Given the description of an element on the screen output the (x, y) to click on. 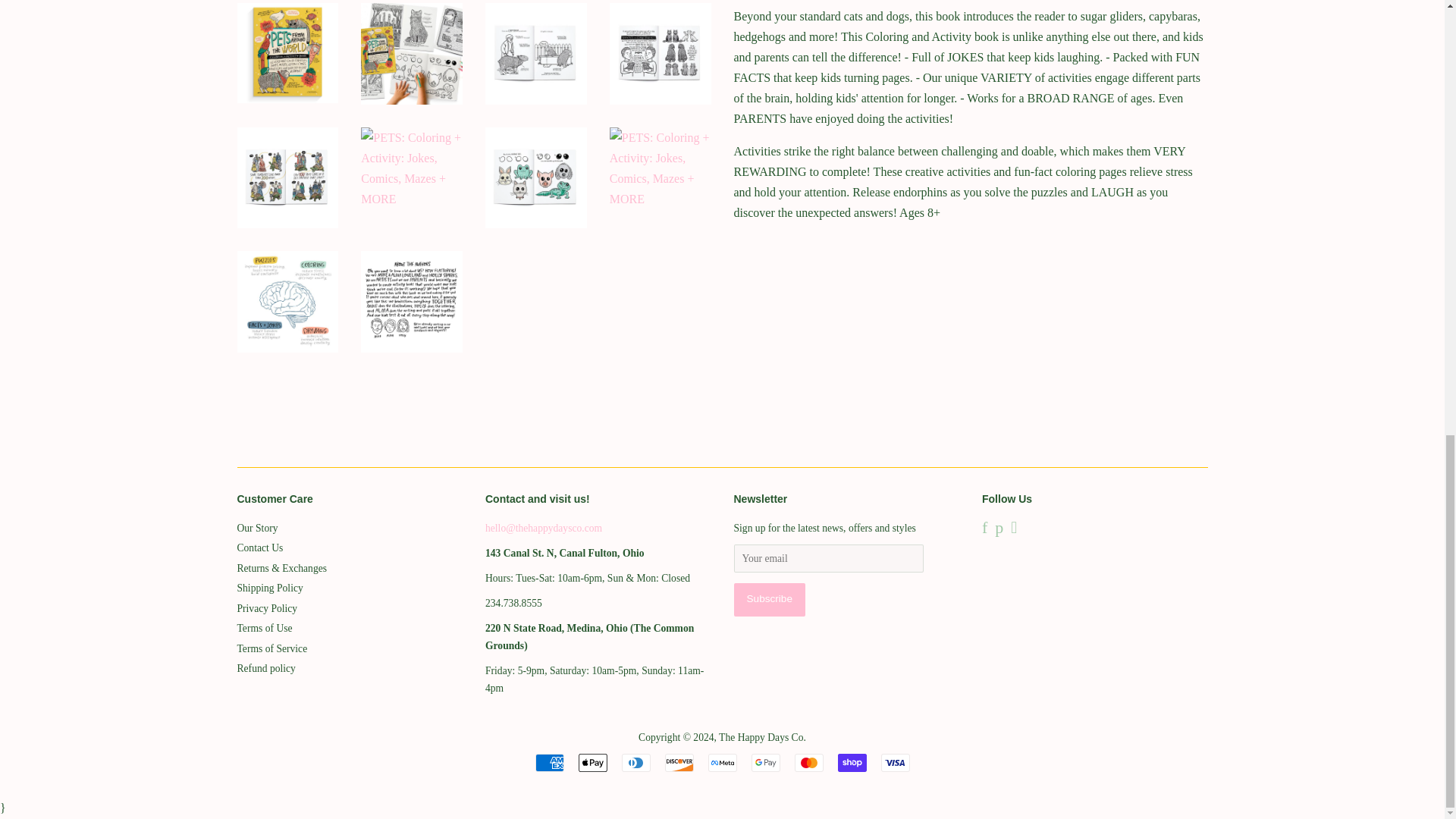
American Express (549, 762)
Diners Club (635, 762)
Meta Pay (721, 762)
Mastercard (809, 762)
Contact Us (543, 527)
Apple Pay (592, 762)
Discover (678, 762)
Google Pay (764, 762)
Visa (895, 762)
Shop Pay (851, 762)
